Given the description of an element on the screen output the (x, y) to click on. 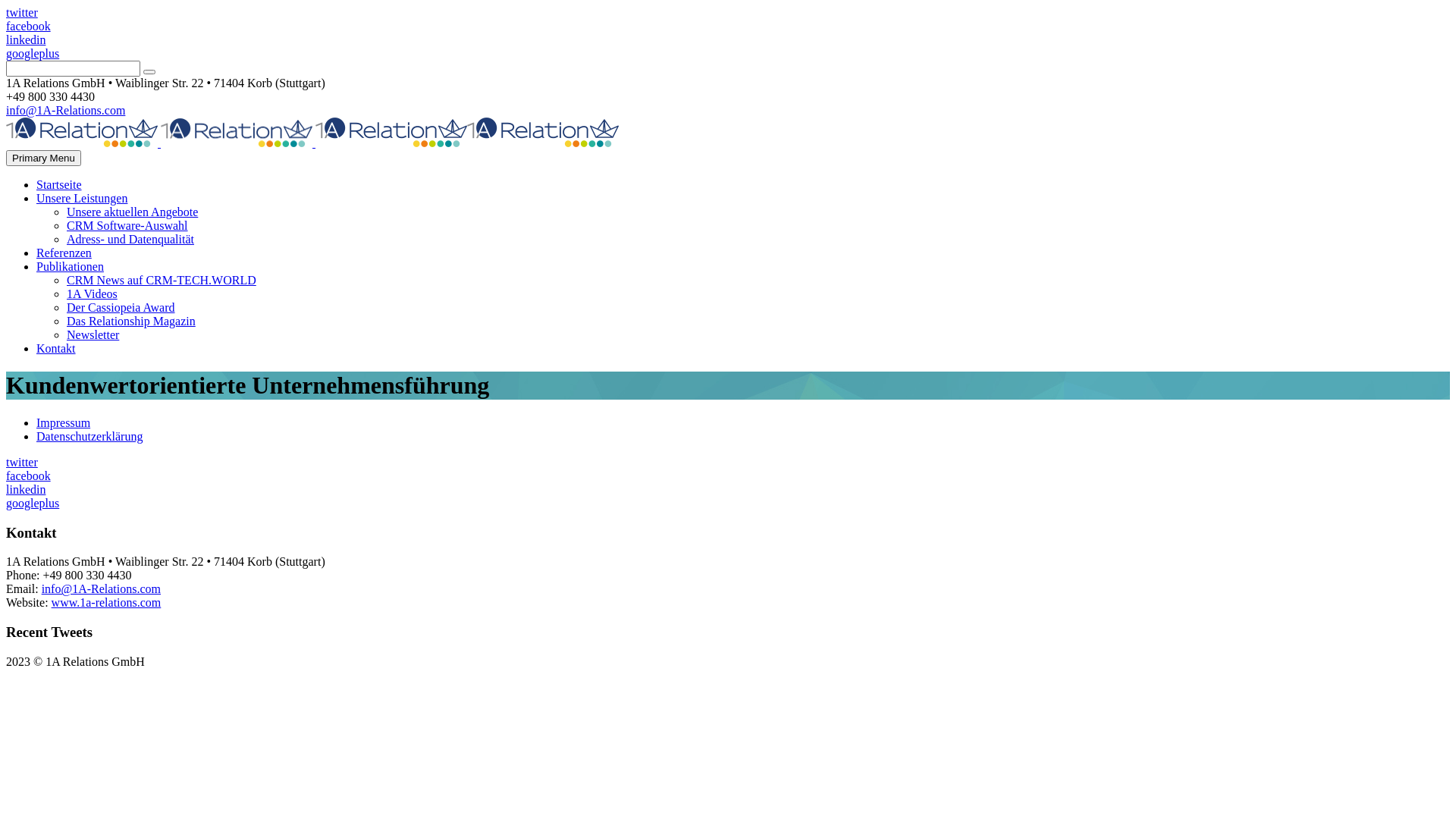
twitter Element type: text (21, 461)
CRM Software-Auswahl Element type: text (127, 225)
CRM News auf CRM-TECH.WORLD Element type: text (161, 279)
Unsere aktuellen Angebote Element type: text (131, 211)
Unsere Leistungen Element type: text (81, 197)
Search Element type: text (149, 71)
googleplus Element type: text (32, 502)
www.1a-relations.com Element type: text (106, 602)
info@1A-Relations.com Element type: text (100, 588)
Primary Menu Element type: text (43, 158)
1A Videos Element type: text (91, 293)
info@1A-Relations.com Element type: text (65, 109)
Newsletter Element type: text (92, 334)
twitter Element type: text (21, 12)
Das Relationship Magazin Element type: text (130, 320)
linkedin Element type: text (25, 39)
facebook Element type: text (28, 25)
Impressum Element type: text (63, 422)
Der Cassiopeia Award Element type: text (120, 307)
Publikationen Element type: text (69, 266)
facebook Element type: text (28, 475)
Referenzen Element type: text (63, 252)
Kontakt Element type: text (55, 348)
linkedin Element type: text (25, 489)
Startseite Element type: text (58, 184)
googleplus Element type: text (32, 53)
